Given the description of an element on the screen output the (x, y) to click on. 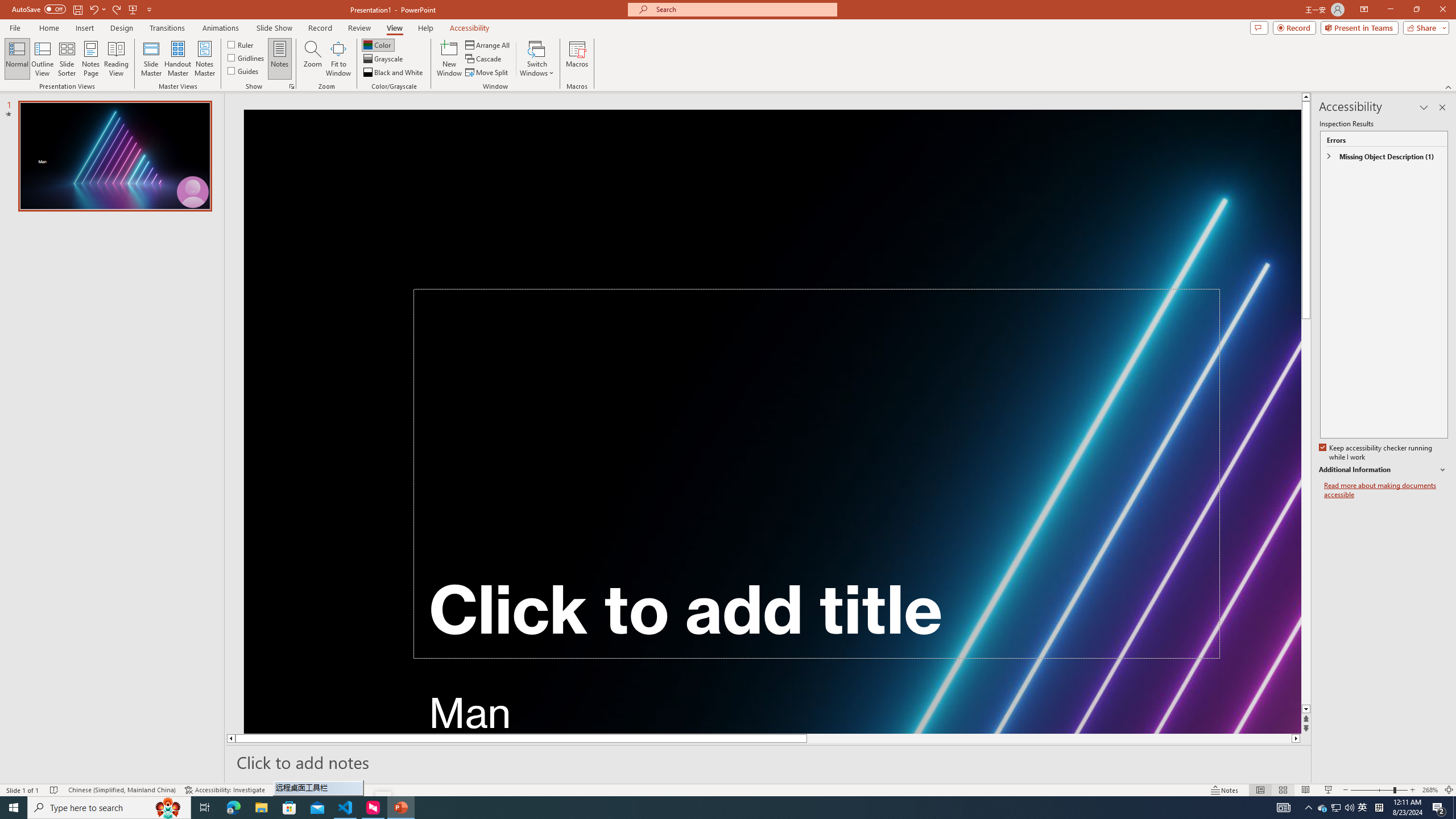
Cascade (484, 58)
